Given the description of an element on the screen output the (x, y) to click on. 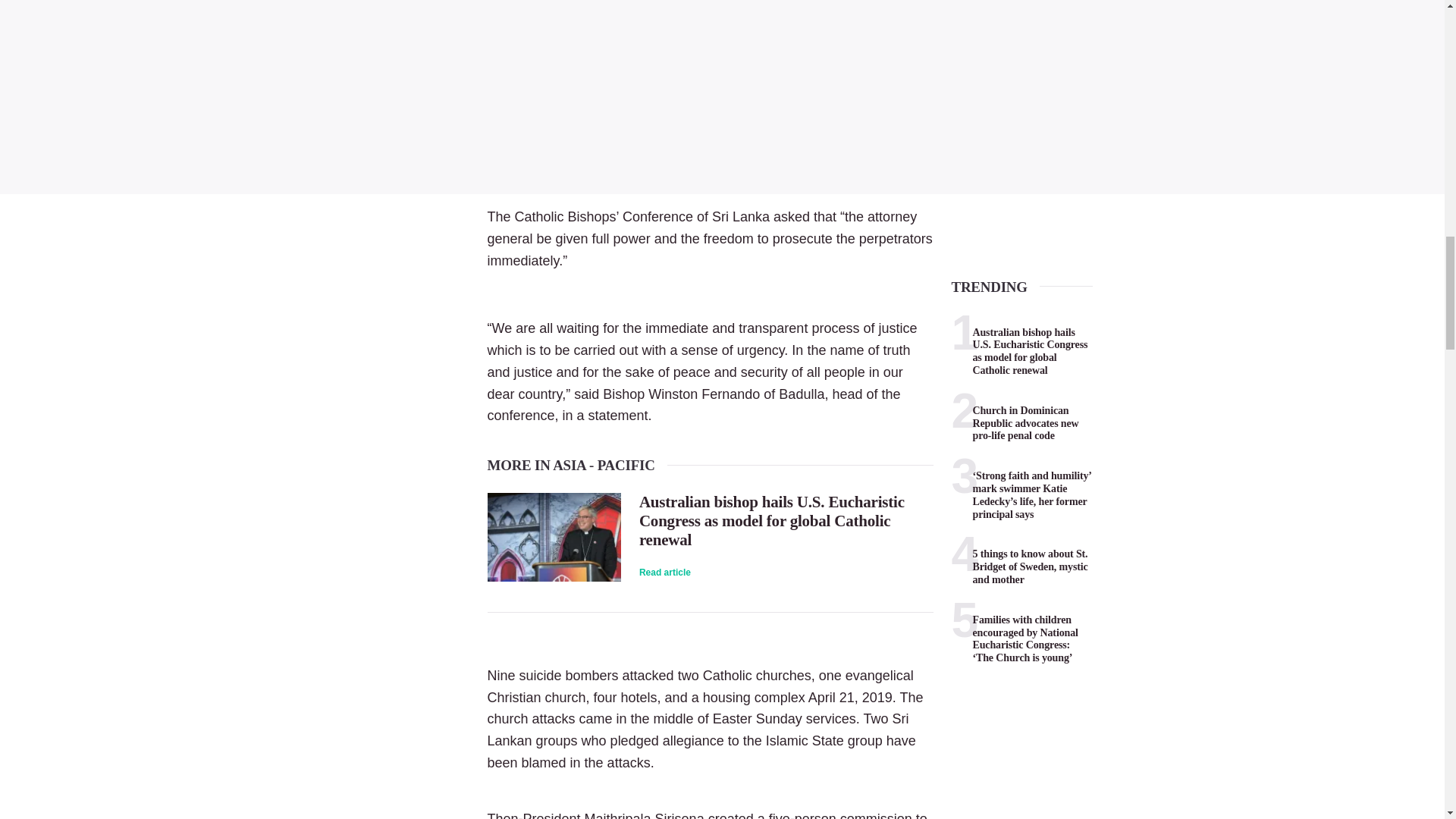
3rd party ad content (721, 92)
